Given the description of an element on the screen output the (x, y) to click on. 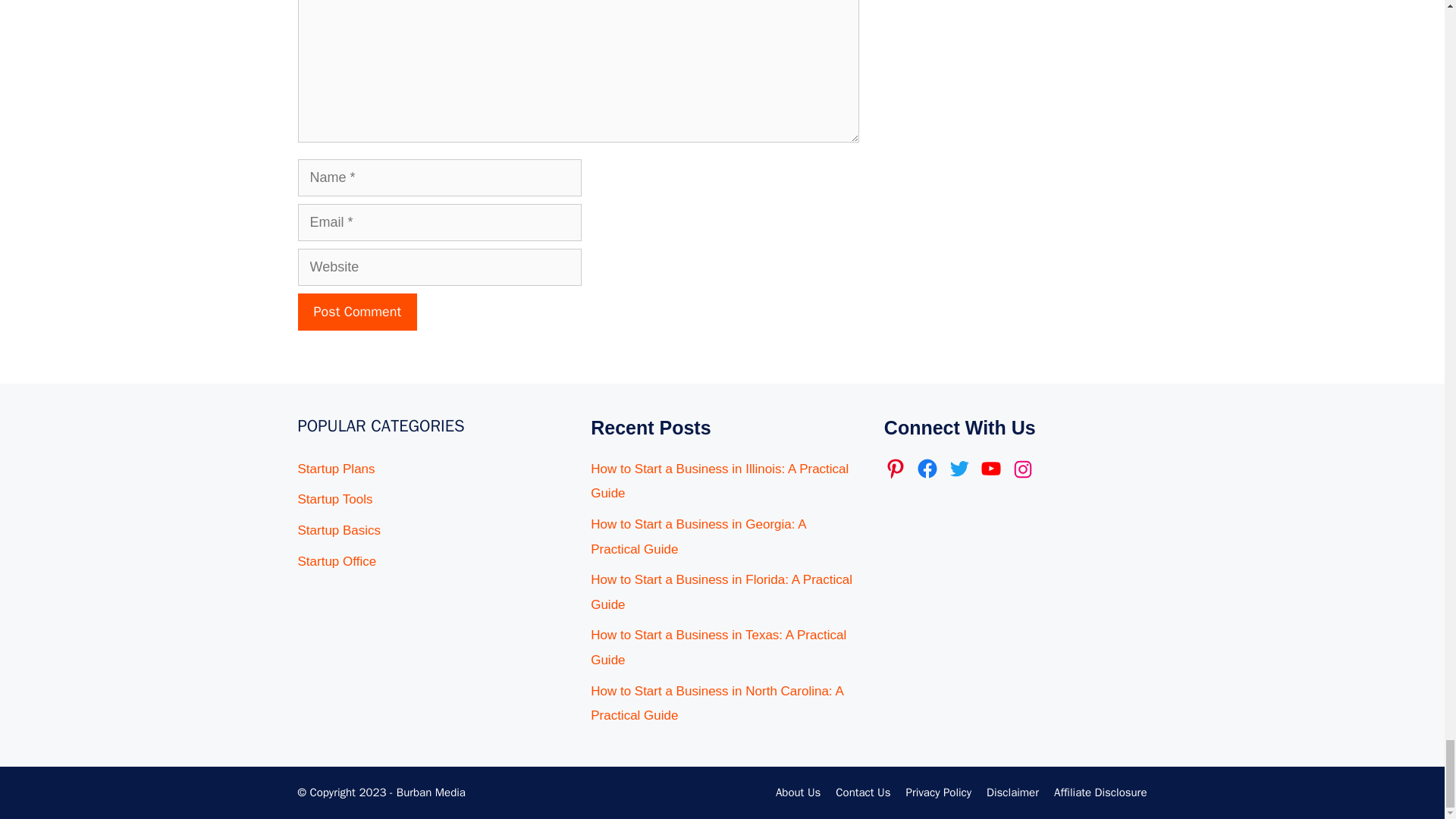
Post Comment (356, 311)
